Given the description of an element on the screen output the (x, y) to click on. 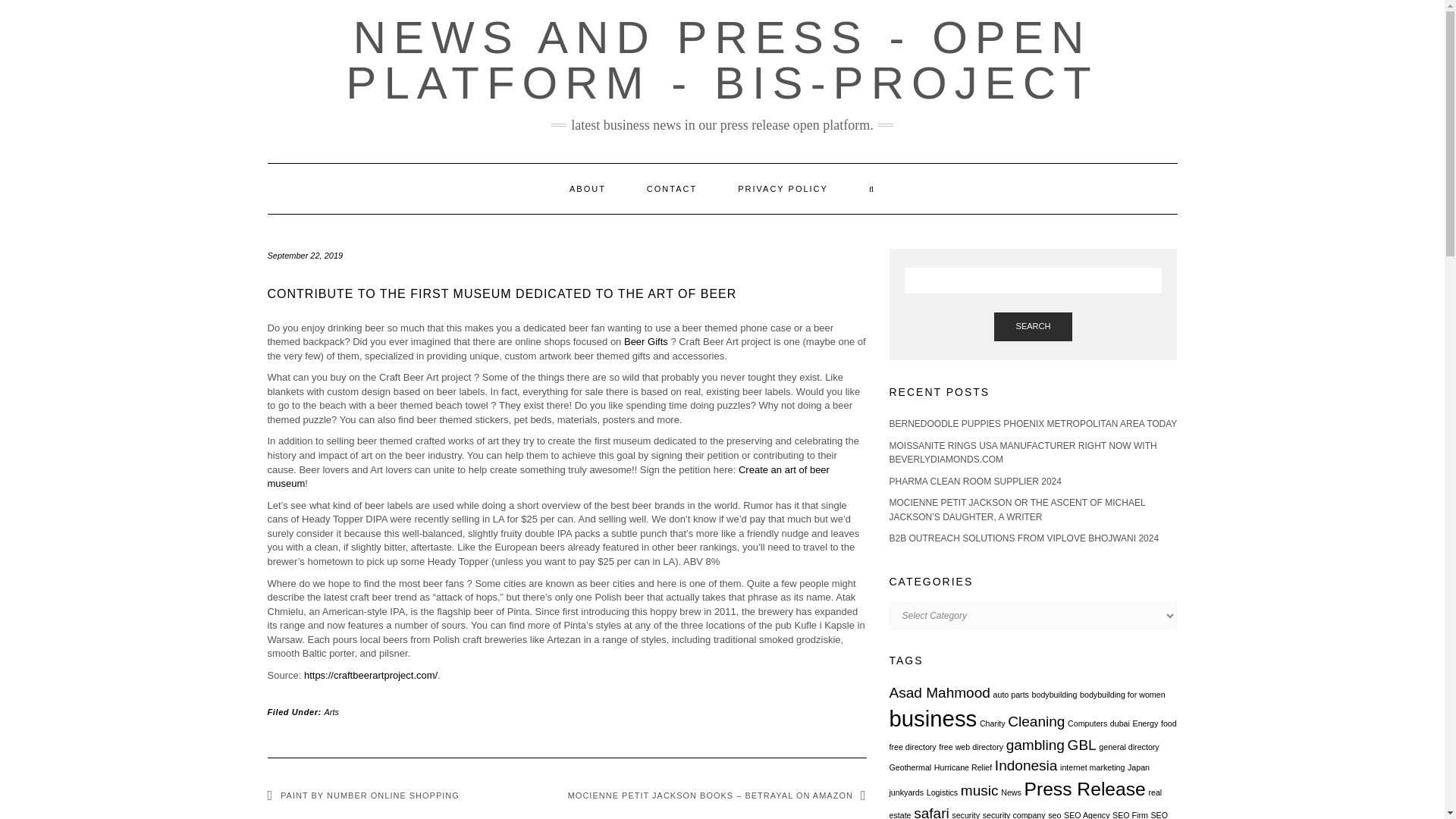
bodybuilding (1054, 694)
Asad Mahmood (939, 692)
Japan (1138, 767)
PAINT BY NUMBER ONLINE SHOPPING (362, 795)
internet marketing (1091, 767)
CONTACT (671, 188)
BERNEDOODLE PUPPIES PHOENIX METROPOLITAN AREA TODAY (1032, 423)
Arts (331, 711)
general directory (1128, 746)
Cleaning (1035, 721)
Beer Gifts (646, 341)
ABOUT (587, 188)
junkyards (905, 791)
B2B OUTREACH SOLUTIONS FROM VIPLOVE BHOJWANI 2024 (1023, 538)
gambling (1035, 744)
